Given the description of an element on the screen output the (x, y) to click on. 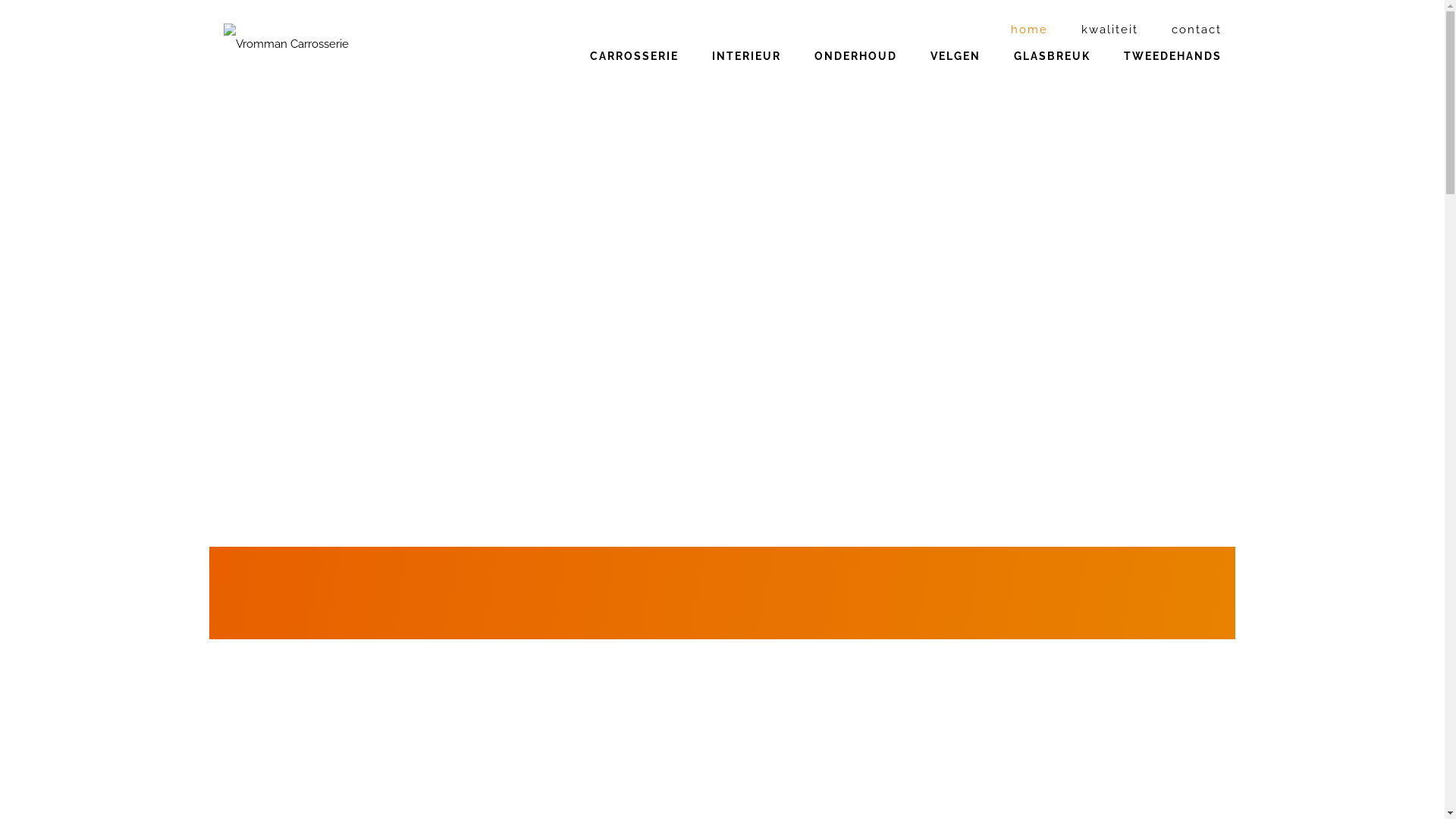
CARROSSERIE Element type: text (633, 78)
Carrosserie Vromman Element type: hover (326, 43)
VELGEN Element type: text (954, 78)
TWEEDEHANDS Element type: text (1172, 78)
GLASBREUK Element type: text (1050, 78)
INTERIEUR Element type: text (745, 78)
ONDERHOUD Element type: text (855, 78)
